Given the description of an element on the screen output the (x, y) to click on. 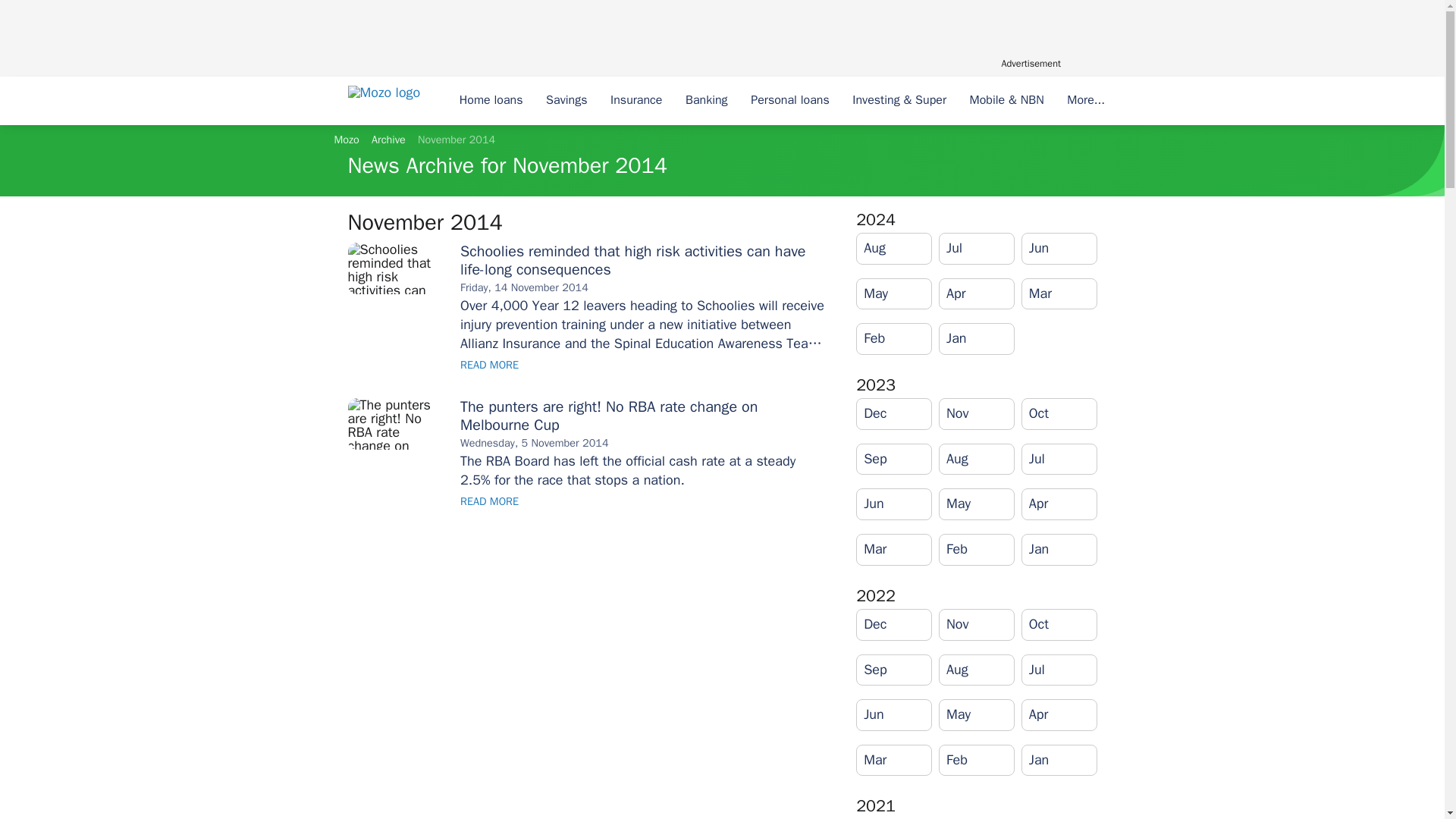
Savings (565, 101)
Insurance (635, 101)
Home loans (490, 101)
